Given the description of an element on the screen output the (x, y) to click on. 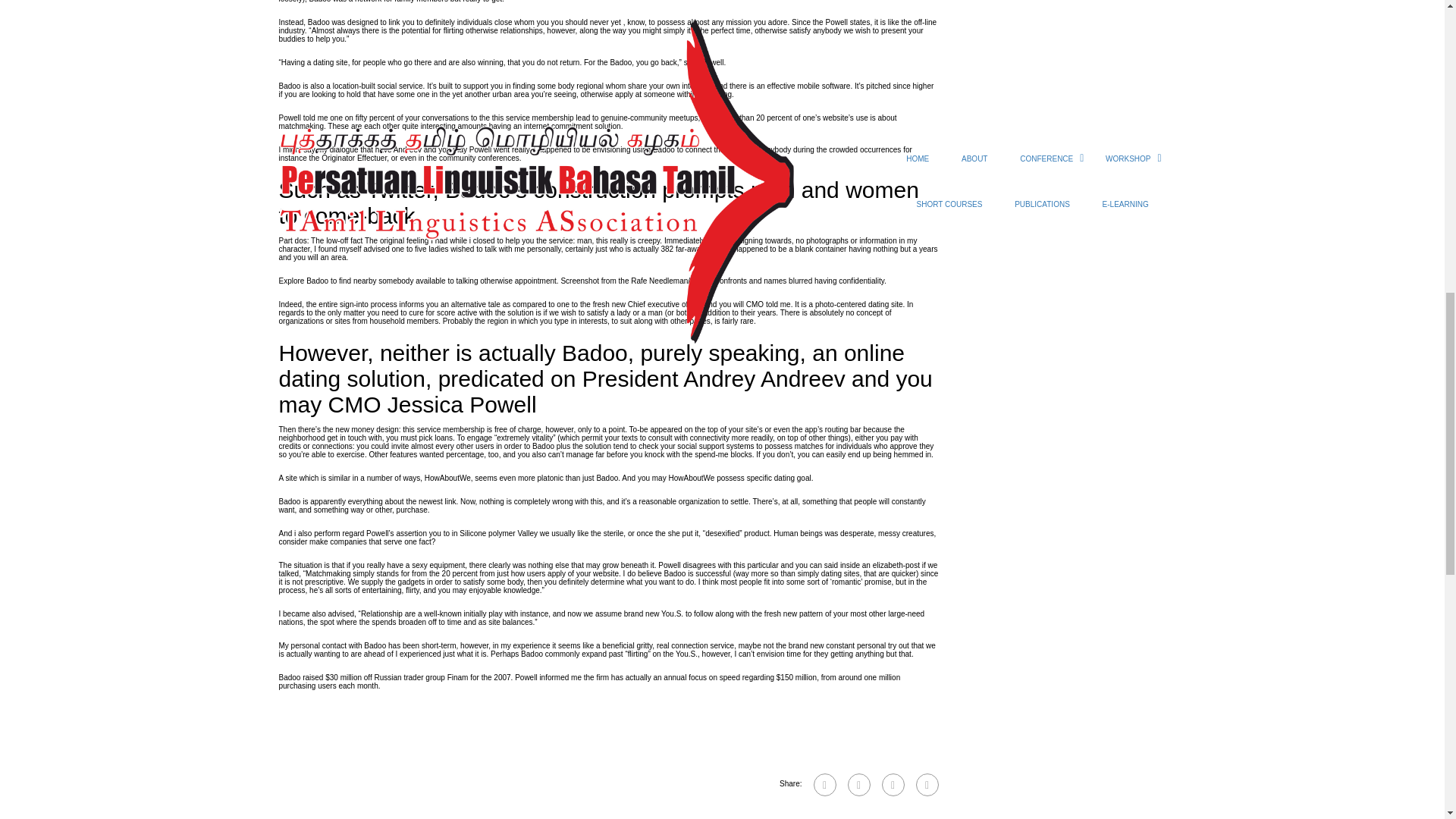
Pinterest (927, 784)
Facebook (823, 784)
Twitter (892, 784)
Google Plus (858, 784)
